Given the description of an element on the screen output the (x, y) to click on. 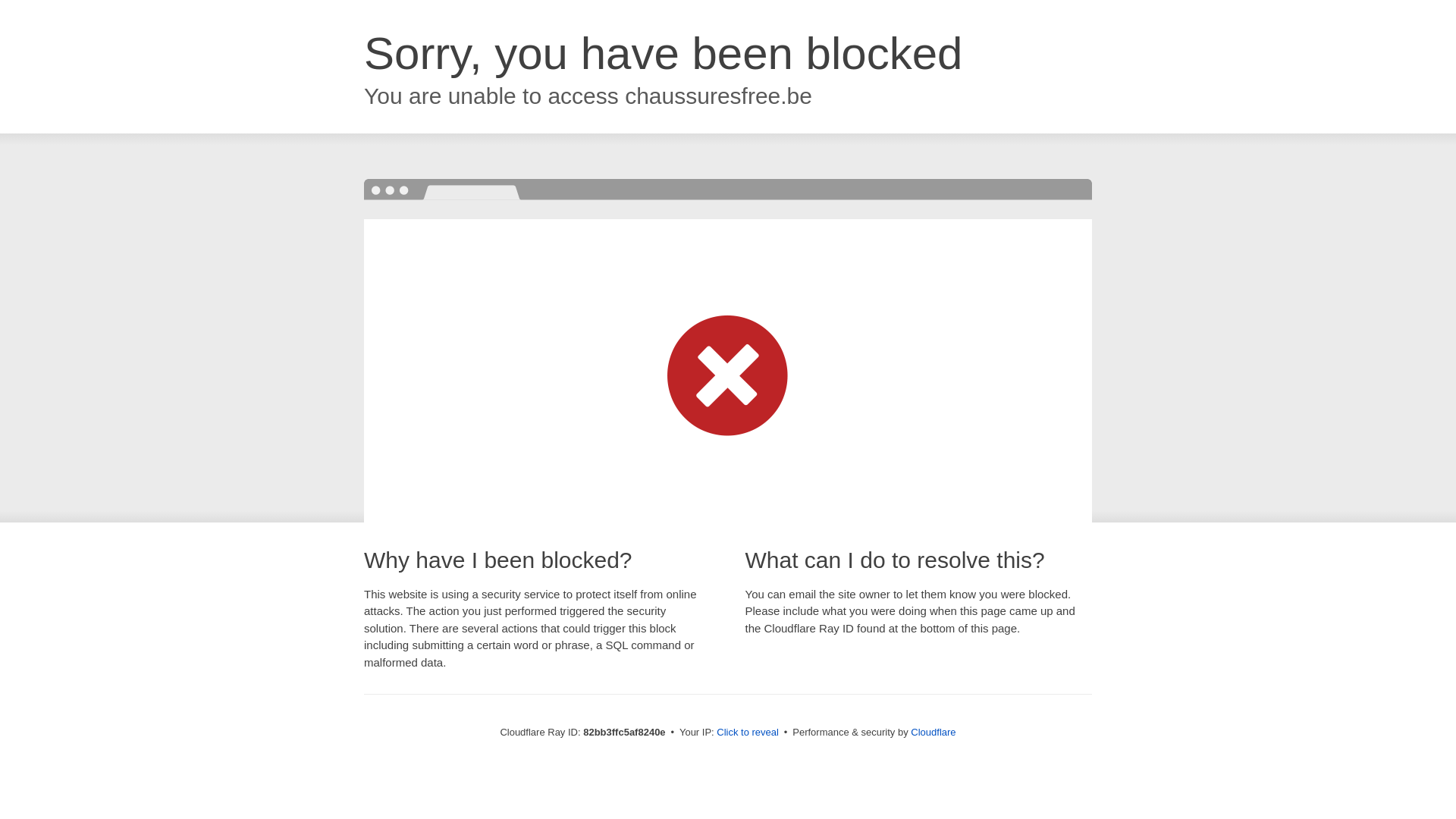
Click to reveal Element type: text (747, 732)
Cloudflare Element type: text (932, 731)
